Given the description of an element on the screen output the (x, y) to click on. 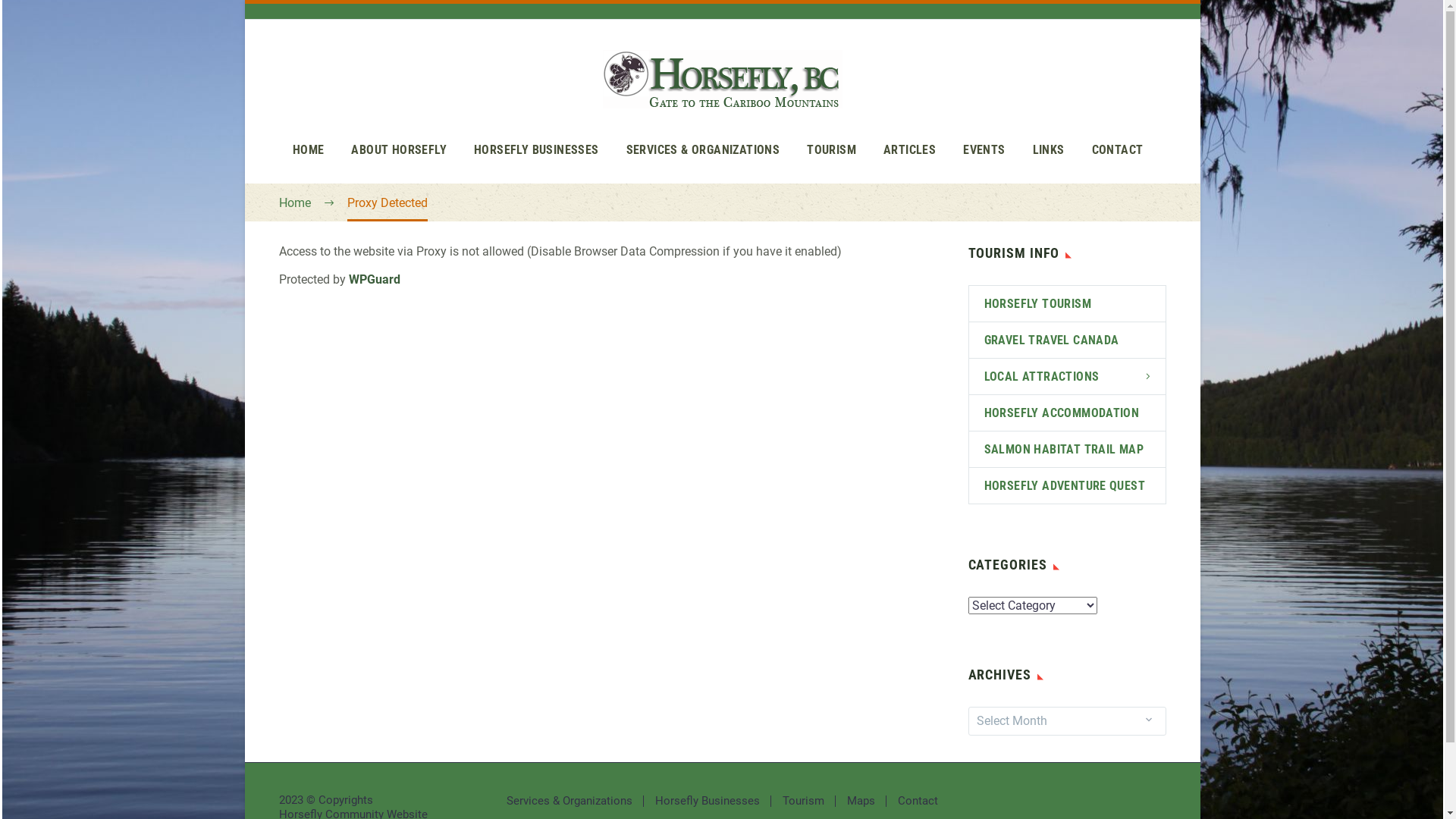
LINKS Element type: text (1048, 149)
HOME Element type: text (308, 149)
SALMON HABITAT TRAIL MAP Element type: text (1067, 449)
LOCAL ATTRACTIONS Element type: text (1067, 376)
ARTICLES Element type: text (909, 149)
Contact Element type: text (917, 800)
CONTACT Element type: text (1117, 149)
GRAVEL TRAVEL CANADA Element type: text (1067, 339)
Tourism Element type: text (803, 800)
HORSEFLY BUSINESSES Element type: text (536, 149)
ABOUT HORSEFLY Element type: text (398, 149)
Services & Organizations Element type: text (569, 800)
SERVICES & ORGANIZATIONS Element type: text (703, 149)
Home Element type: text (294, 202)
EVENTS Element type: text (983, 149)
Horsefly Businesses Element type: text (707, 800)
HORSEFLY ADVENTURE QUEST Element type: text (1067, 485)
WPGuard Element type: text (374, 279)
HORSEFLY TOURISM Element type: text (1067, 303)
Maps Element type: text (861, 800)
TOURISM Element type: text (831, 149)
HORSEFLY ACCOMMODATION Element type: text (1067, 412)
